Given the description of an element on the screen output the (x, y) to click on. 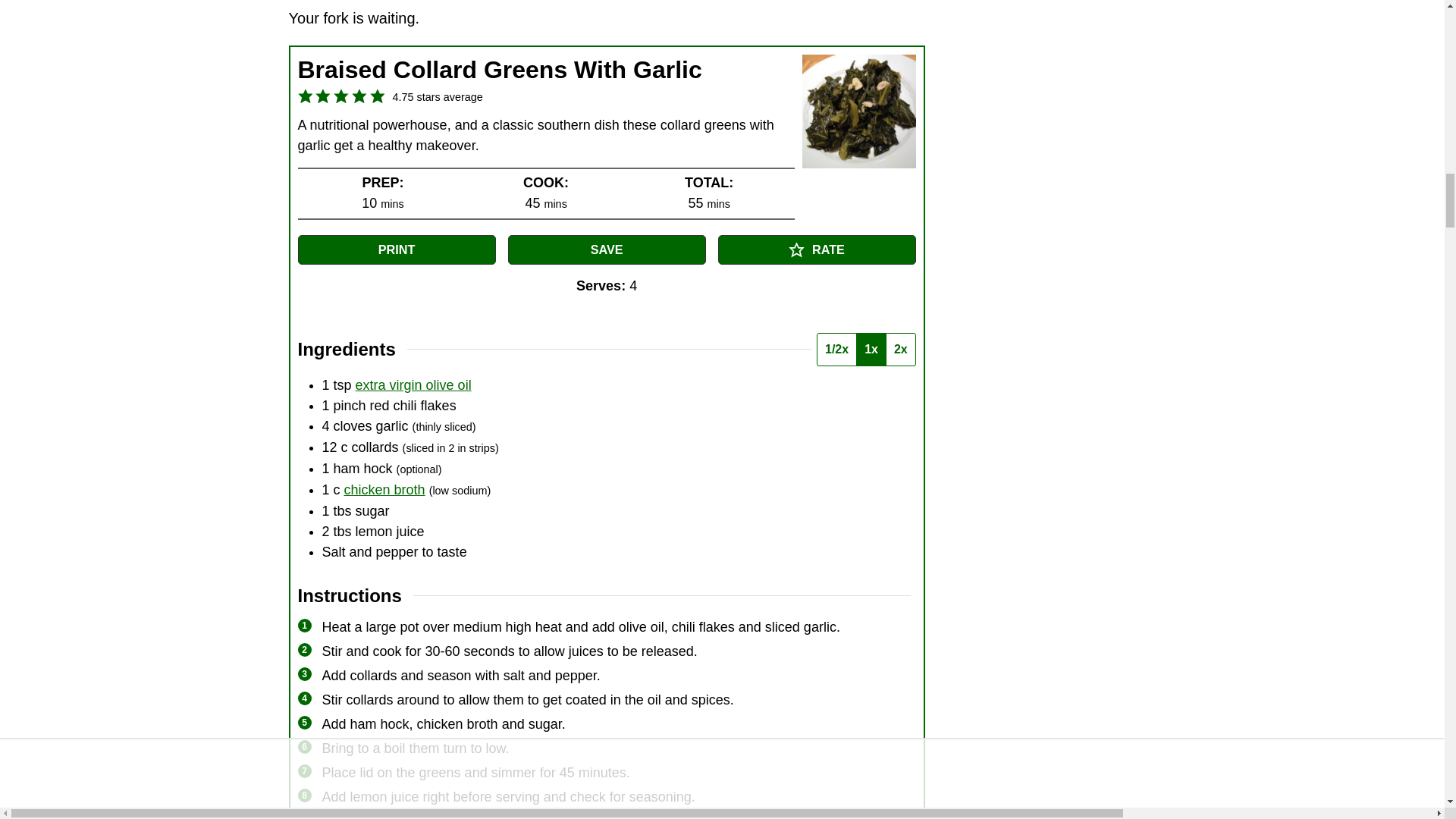
SAVE (607, 249)
RATE (816, 249)
2x (900, 348)
chicken broth (384, 489)
1x (870, 348)
PRINT (396, 249)
extra virgin olive oil (413, 385)
